Given the description of an element on the screen output the (x, y) to click on. 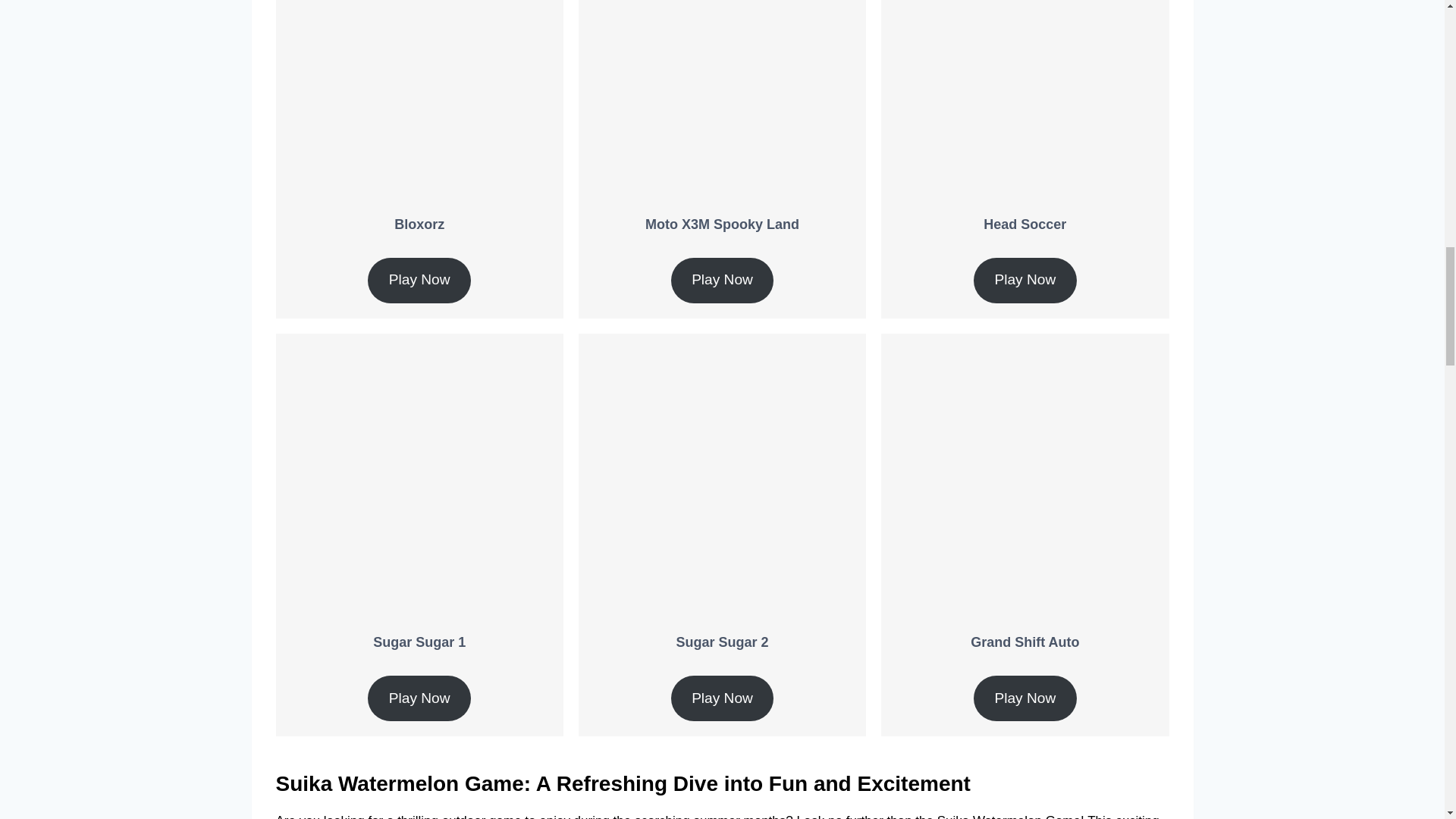
Bloxorz (419, 224)
